Given the description of an element on the screen output the (x, y) to click on. 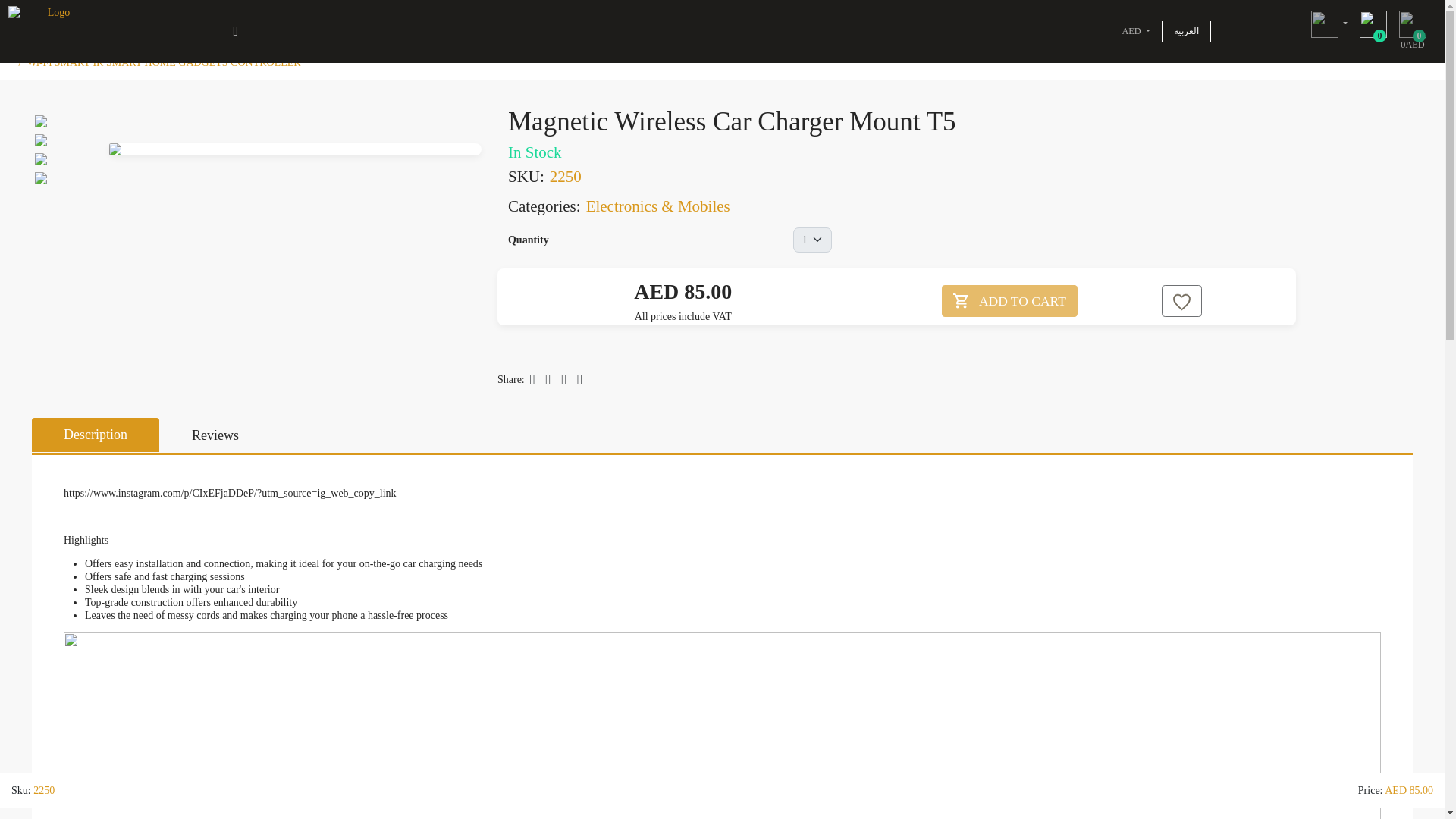
Twitter (564, 379)
Linkedin (532, 379)
TRAVEL ACCESSORIES (157, 22)
0 (1373, 31)
d (1009, 300)
OFFER DEALS (555, 22)
BRANDS (718, 22)
ALL PRODUCTS (470, 22)
Tumblr (580, 379)
SUMMER PRODUCTS (368, 22)
DOWNLOAD APP (792, 22)
Facebook (548, 379)
NEW ARRIVALS (1412, 31)
MEMBERSHIP (51, 22)
